Given the description of an element on the screen output the (x, y) to click on. 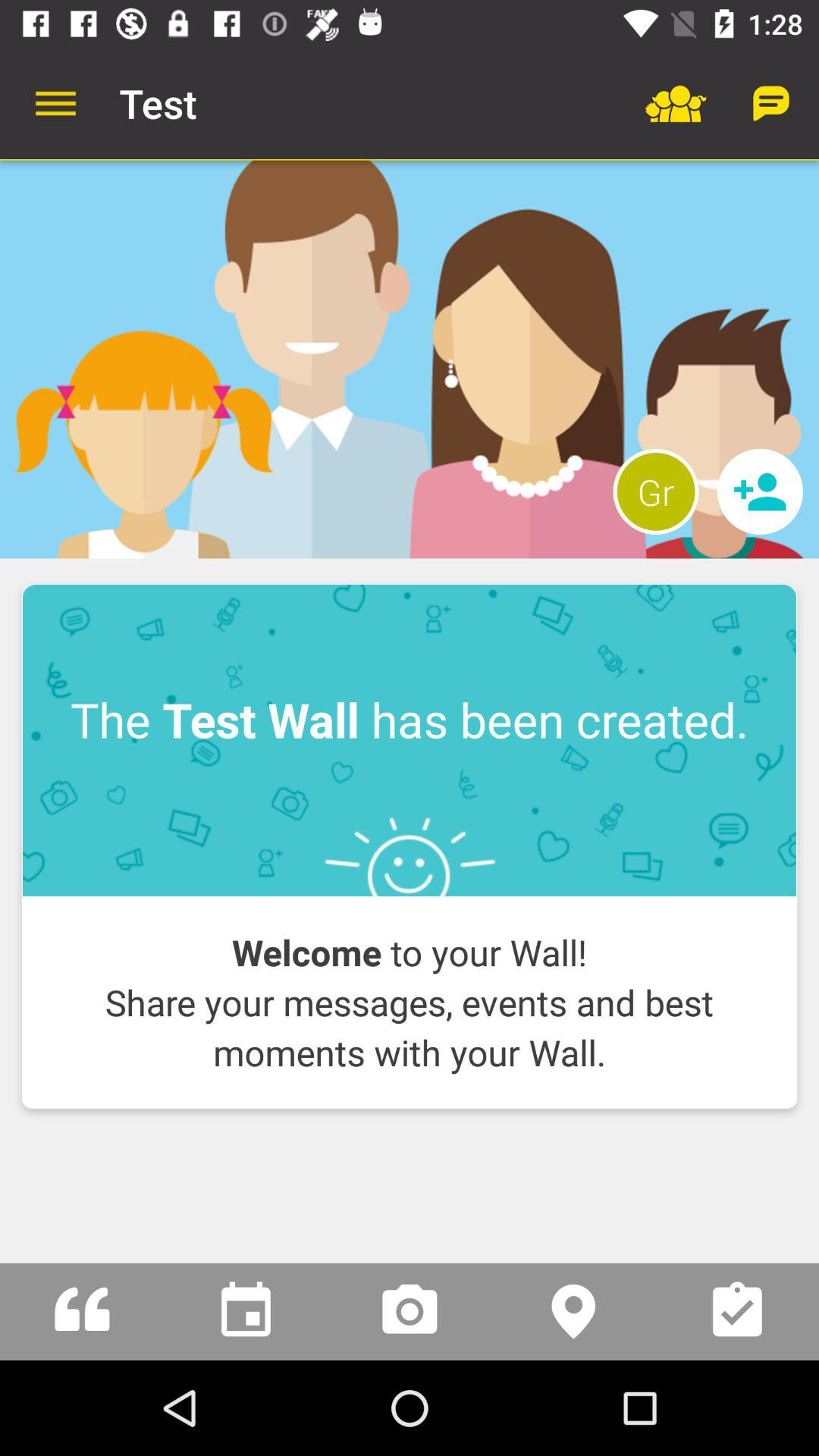
jump until the gr (655, 491)
